Given the description of an element on the screen output the (x, y) to click on. 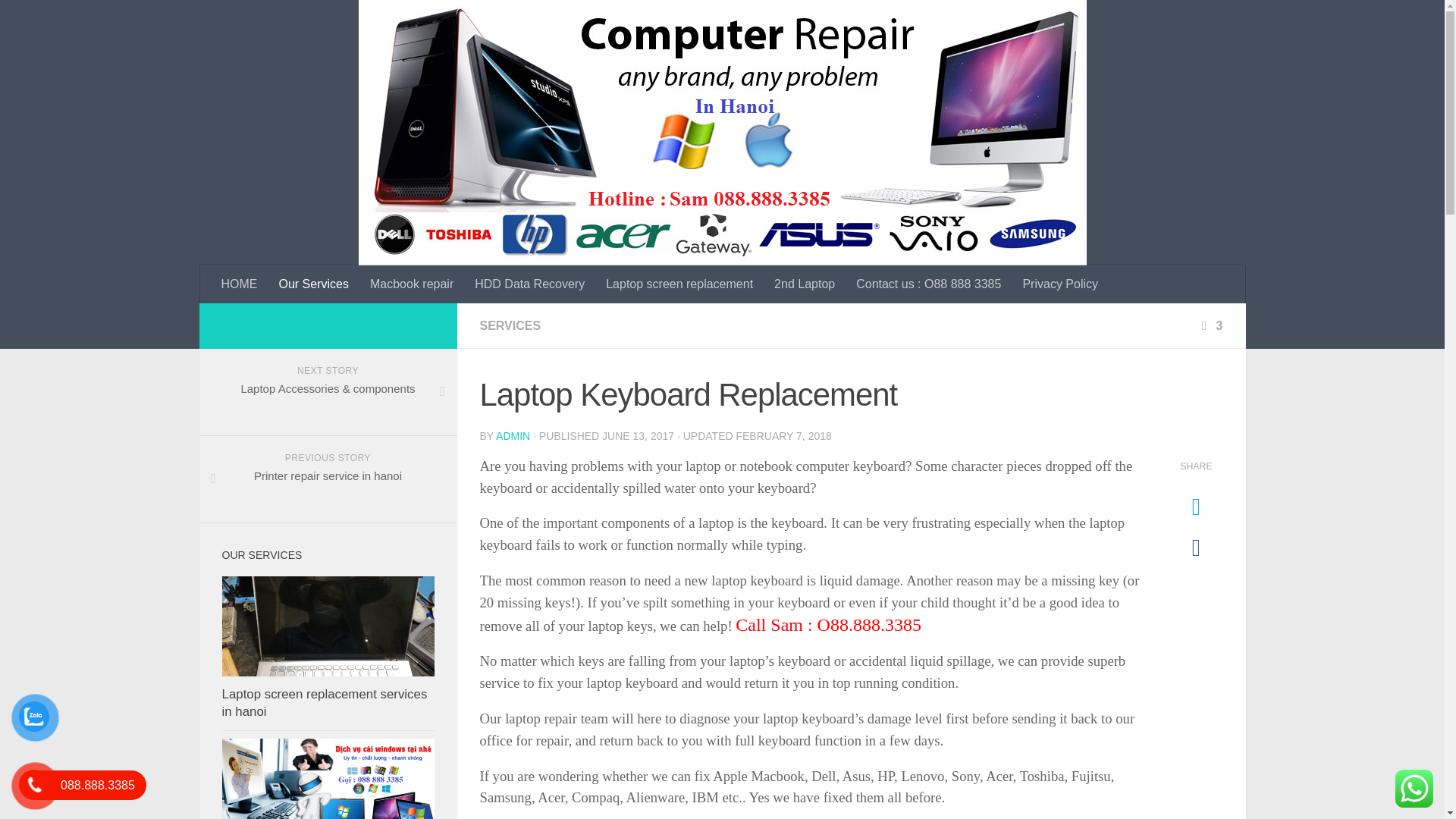
Contact us : O88 888 3385 (928, 284)
2nd Laptop (803, 284)
Posts by admin (512, 435)
Privacy Policy (1059, 284)
Macbook repair (411, 284)
Laptop screen replacement services in hanoi (323, 703)
SERVICES (509, 325)
Laptop screen replacement (678, 284)
3 (1210, 325)
HOME (239, 284)
ADMIN (512, 435)
HDD Data Recovery (529, 284)
Our Services (313, 284)
Laptop screen replacement services in hanoi (327, 626)
